Given the description of an element on the screen output the (x, y) to click on. 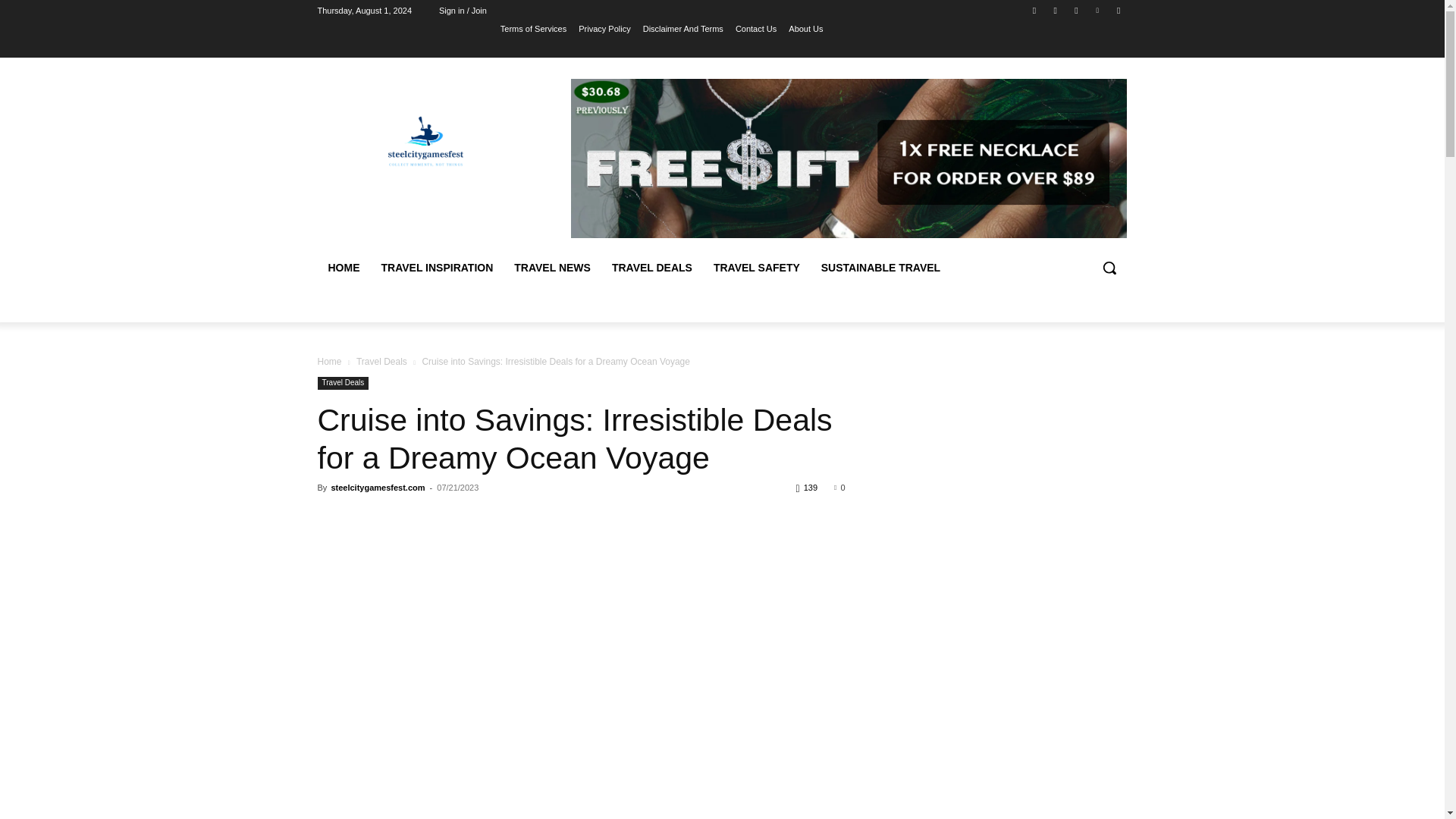
SUSTAINABLE TRAVEL (880, 267)
Terms of Services (533, 28)
TRAVEL SAFETY (756, 267)
About Us (805, 28)
Facebook (1034, 9)
Contact Us (755, 28)
Twitter (1075, 9)
Disclaimer And Terms (683, 28)
TRAVEL DEALS (652, 267)
TRAVEL INSPIRATION (436, 267)
Home (328, 361)
HOME (343, 267)
Instagram (1055, 9)
Youtube (1117, 9)
Travel Deals (381, 361)
